Given the description of an element on the screen output the (x, y) to click on. 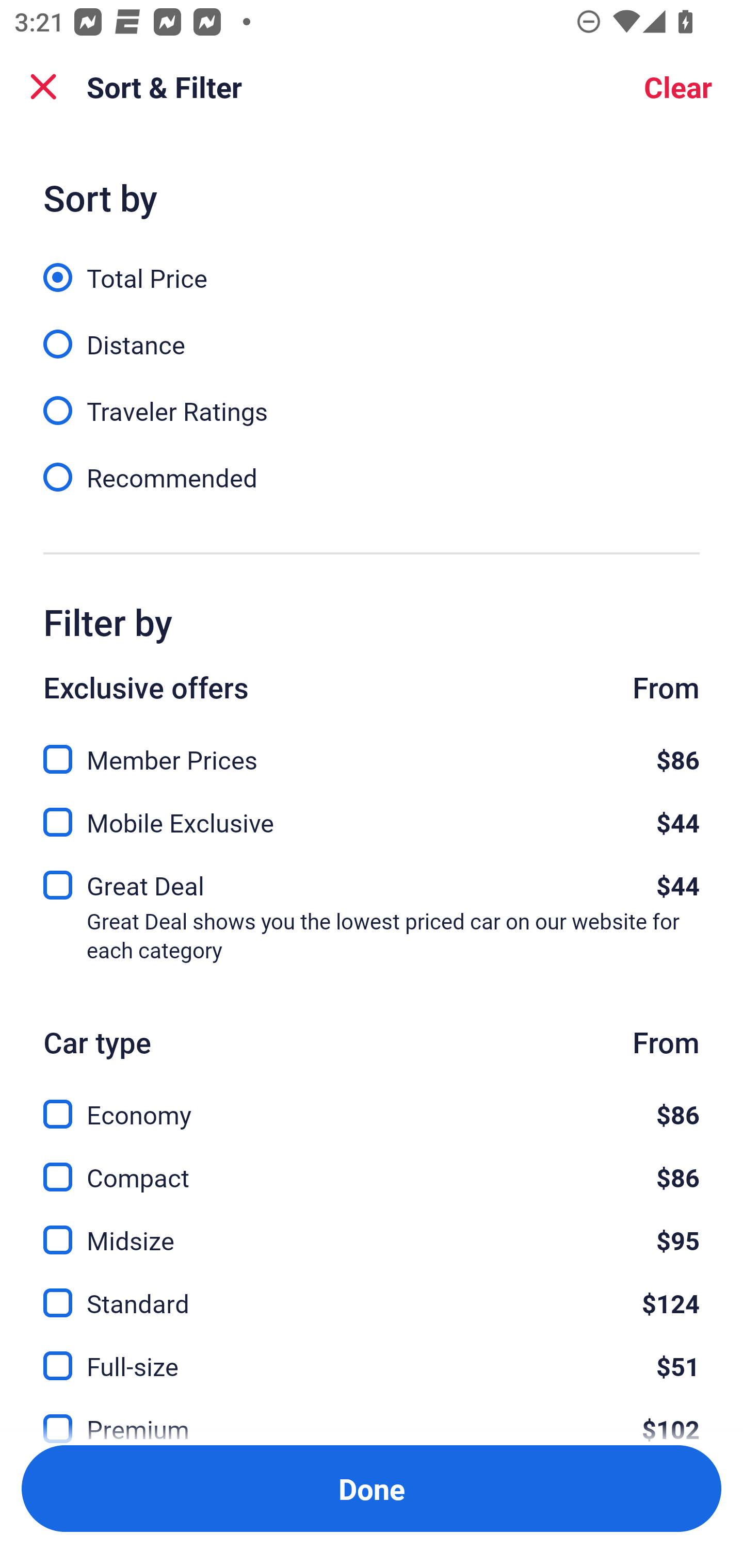
Close Sort and Filter (43, 86)
Clear (677, 86)
Distance (371, 332)
Traveler Ratings (371, 399)
Recommended (371, 475)
Member Prices, $86 Member Prices $86 (371, 747)
Mobile Exclusive, $44 Mobile Exclusive $44 (371, 816)
Economy, $86 Economy $86 (371, 1101)
Compact, $86 Compact $86 (371, 1164)
Midsize, $95 Midsize $95 (371, 1228)
Standard, $124 Standard $124 (371, 1291)
Full-size, $51 Full-size $51 (371, 1354)
Premium, $102 Premium $102 (371, 1415)
Apply and close Sort and Filter Done (371, 1488)
